Given the description of an element on the screen output the (x, y) to click on. 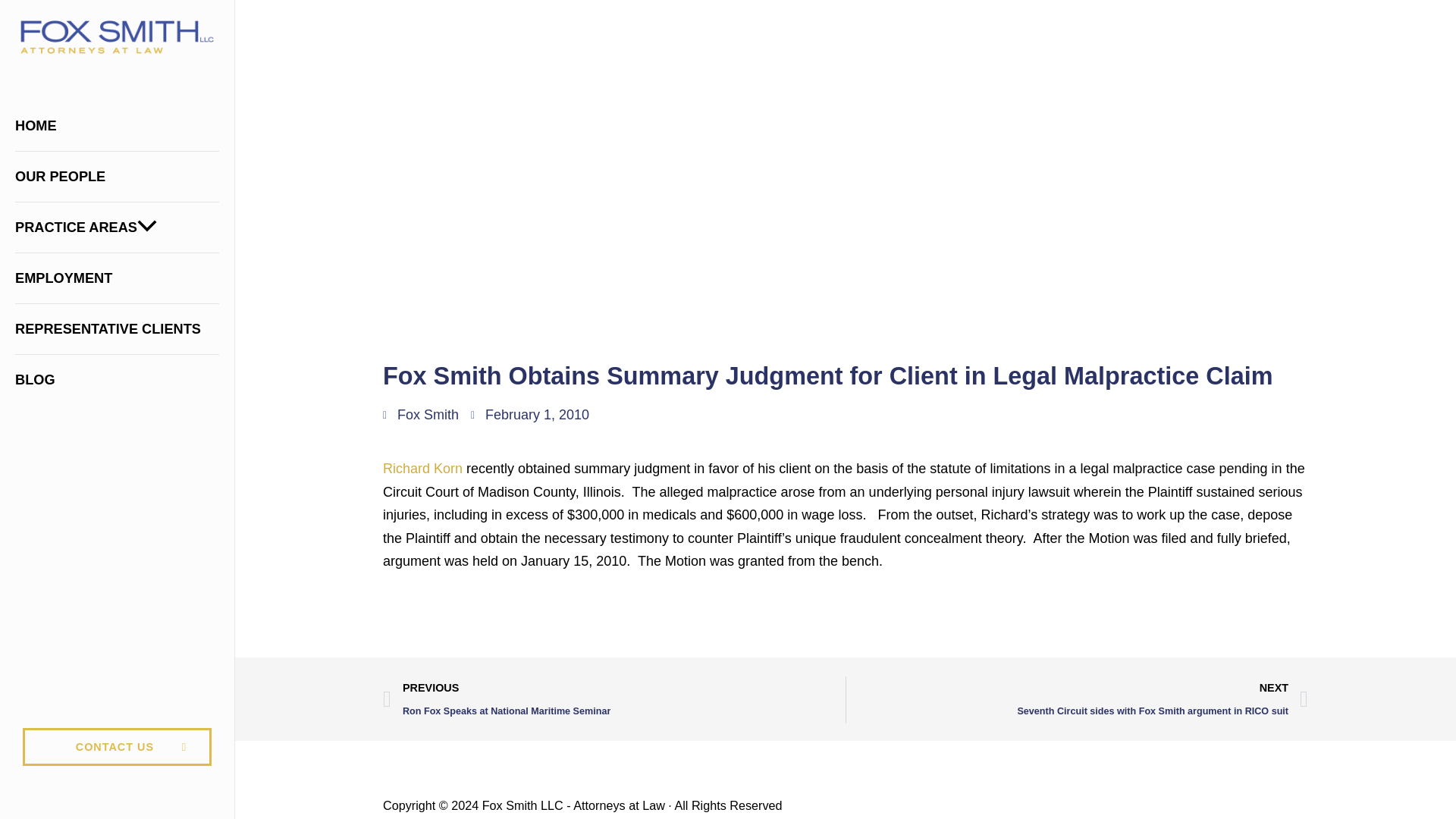
PRACTICE AREAS (116, 227)
EMPLOYMENT (116, 278)
HOME (116, 125)
OUR PEOPLE (116, 176)
